Given the description of an element on the screen output the (x, y) to click on. 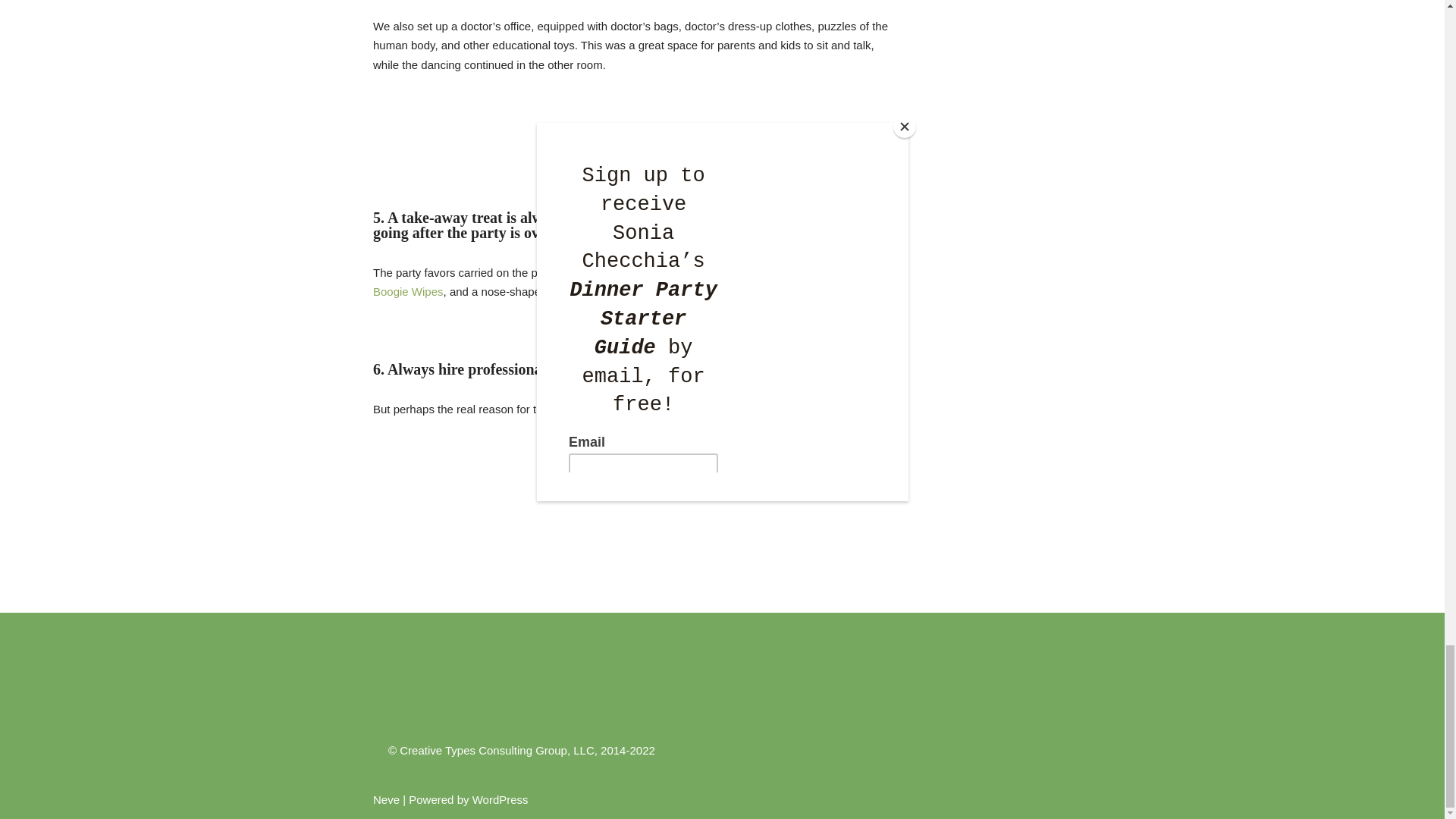
Neve (385, 799)
WordPress (499, 799)
Boogie Wipes (408, 291)
